Given the description of an element on the screen output the (x, y) to click on. 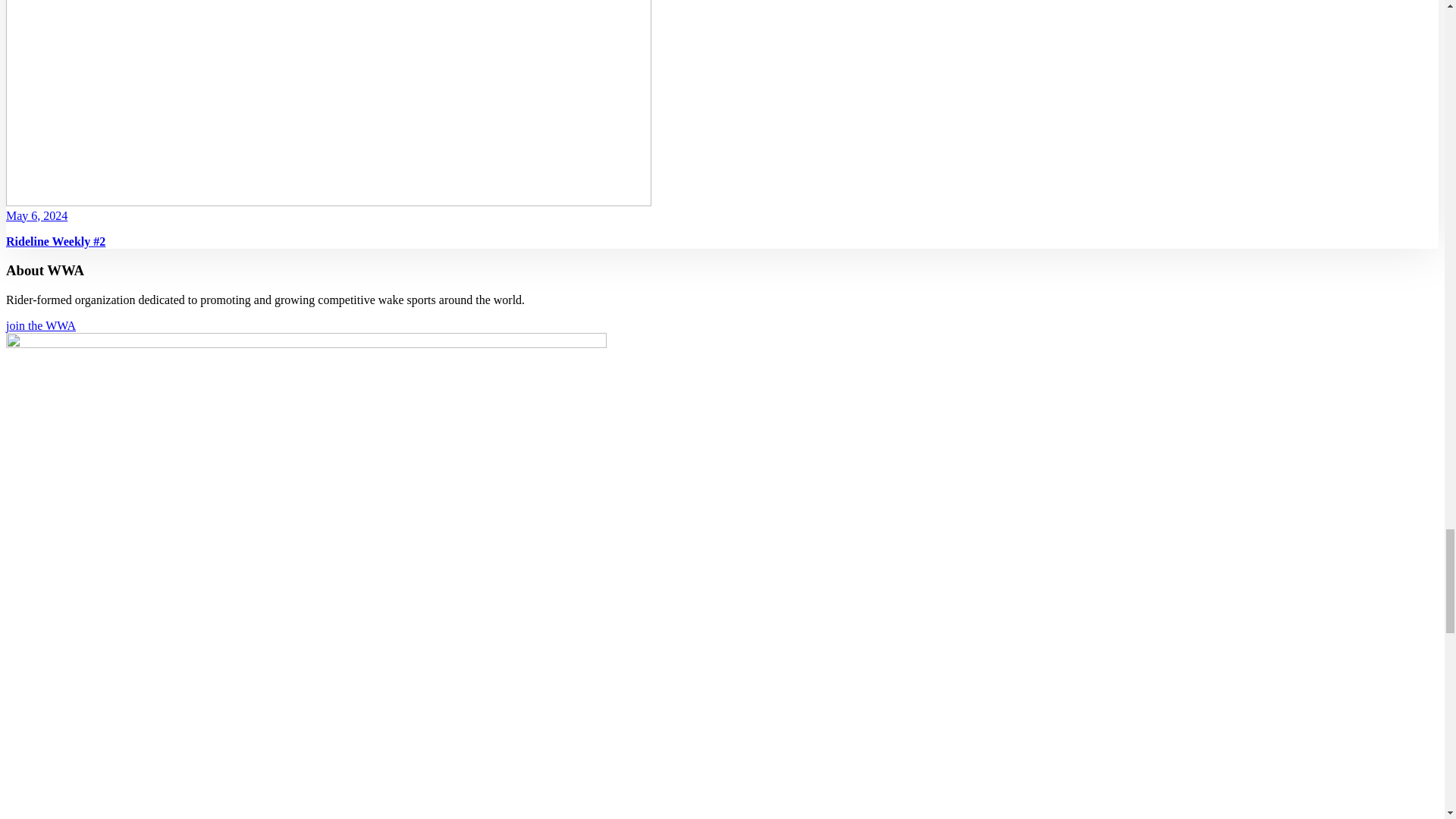
Rideline Weekly Template2 (327, 103)
